Given the description of an element on the screen output the (x, y) to click on. 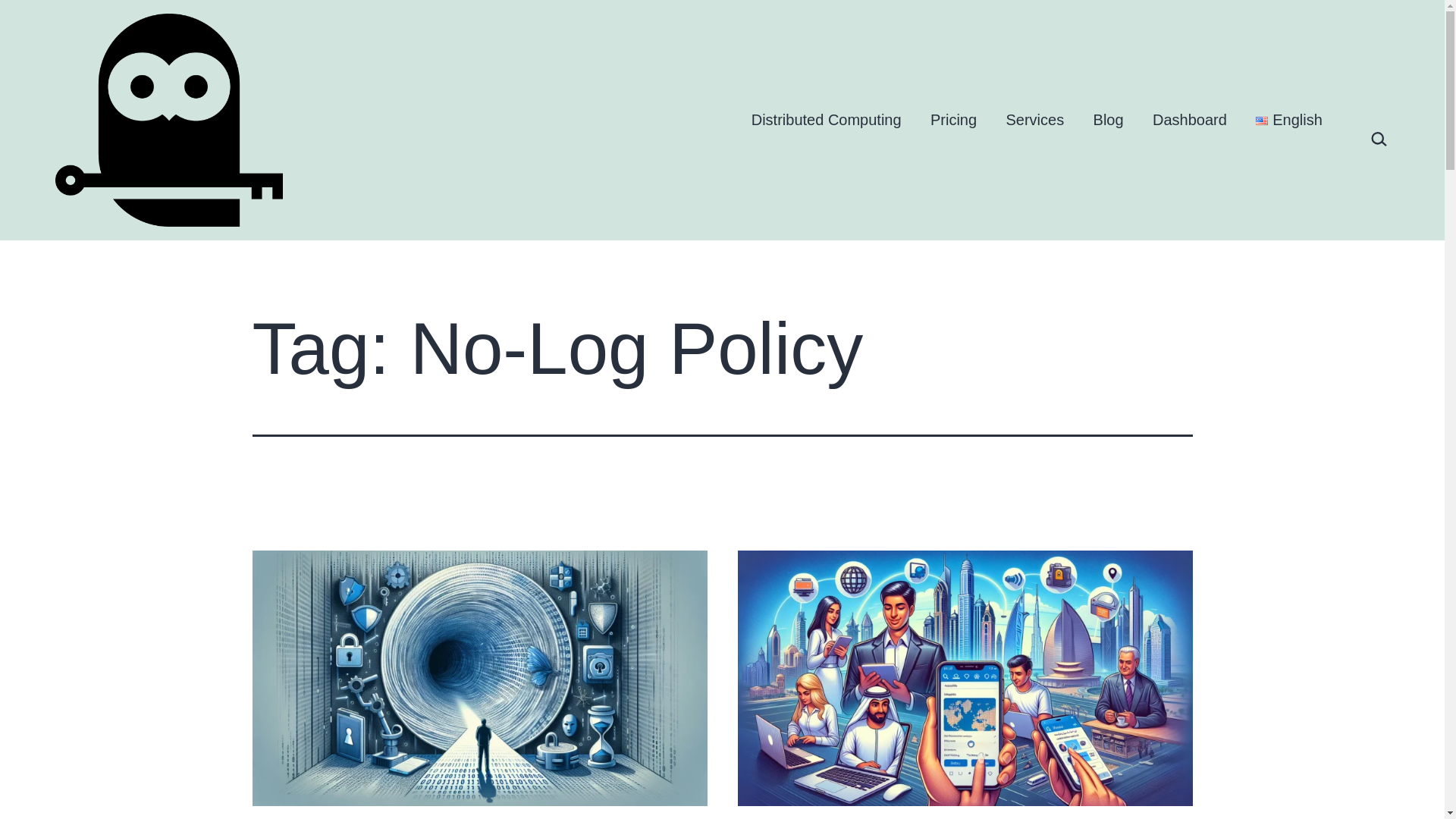
English (1289, 119)
Dashboard (1189, 119)
Services (1034, 119)
Distributed Computing (826, 119)
Blog (1107, 119)
Pricing (953, 119)
